Given the description of an element on the screen output the (x, y) to click on. 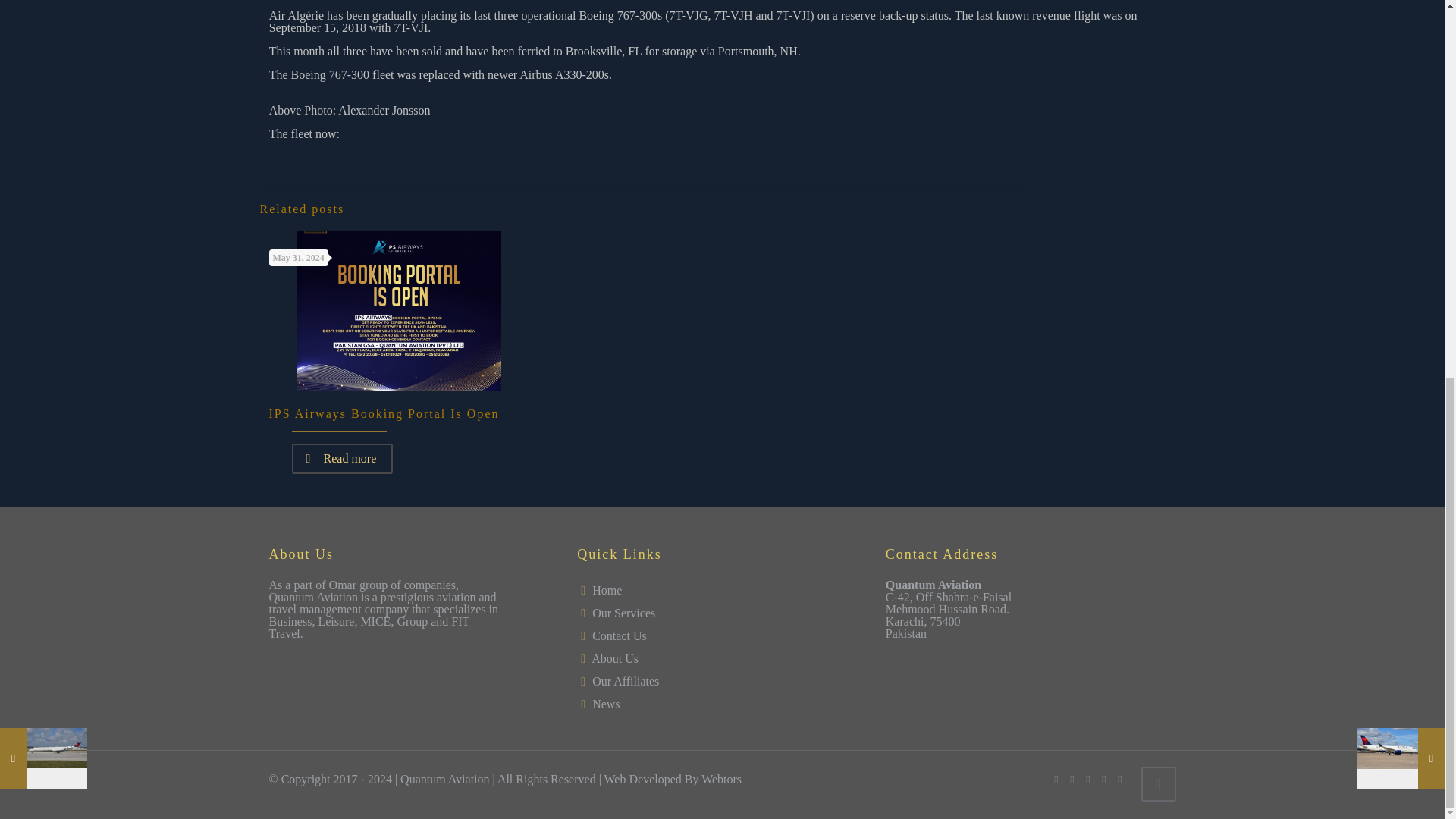
YouTube (1088, 779)
Our Services (623, 612)
Read more (342, 458)
Pinterest (1103, 779)
Home (606, 590)
Instagram (1120, 779)
Contact Us (619, 635)
Professional Website Development Company (721, 779)
IPS Airways Booking Portal Is Open (383, 413)
Facebook (1056, 779)
